Given the description of an element on the screen output the (x, y) to click on. 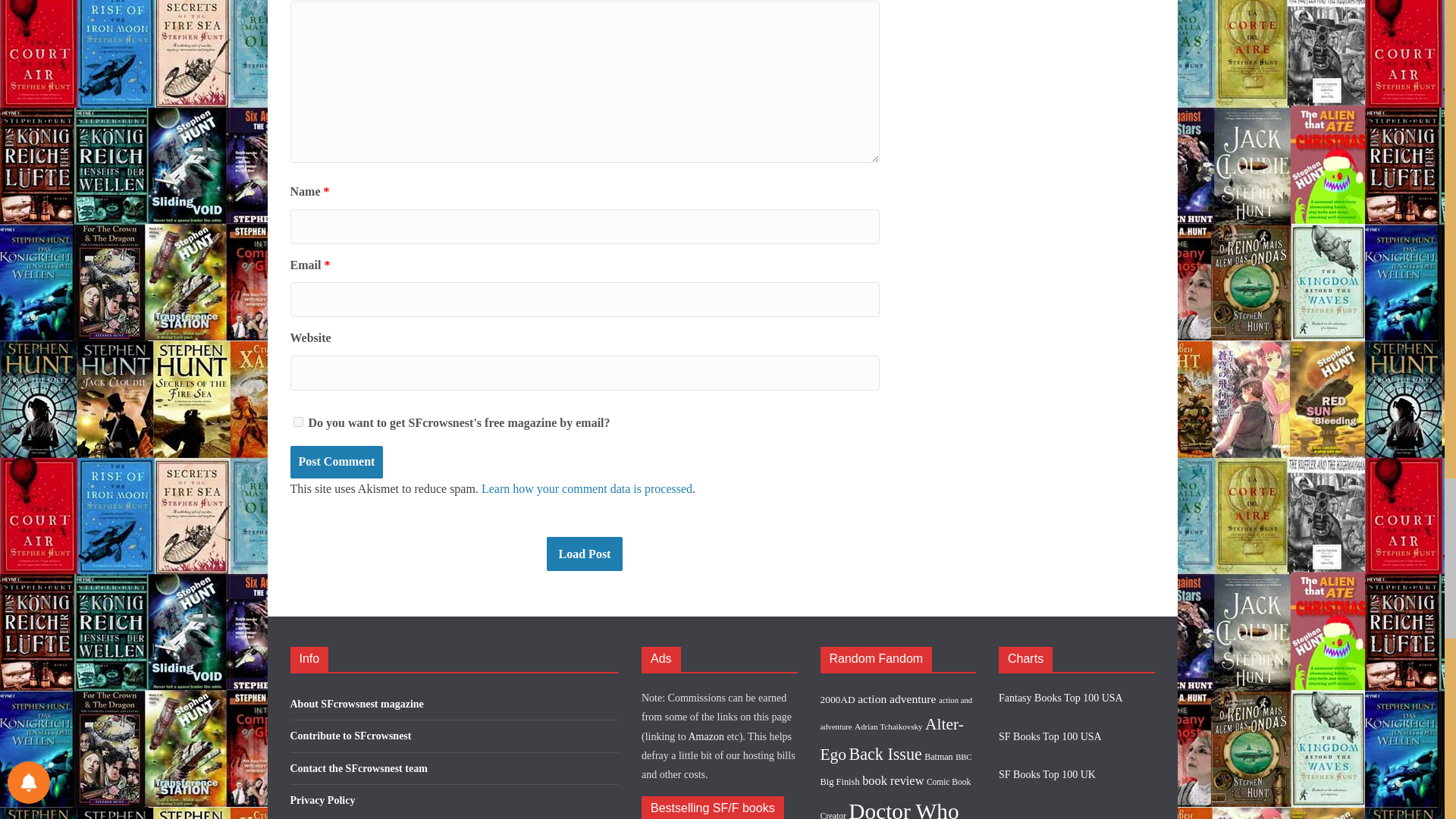
Post Comment (335, 461)
1 (297, 421)
